Given the description of an element on the screen output the (x, y) to click on. 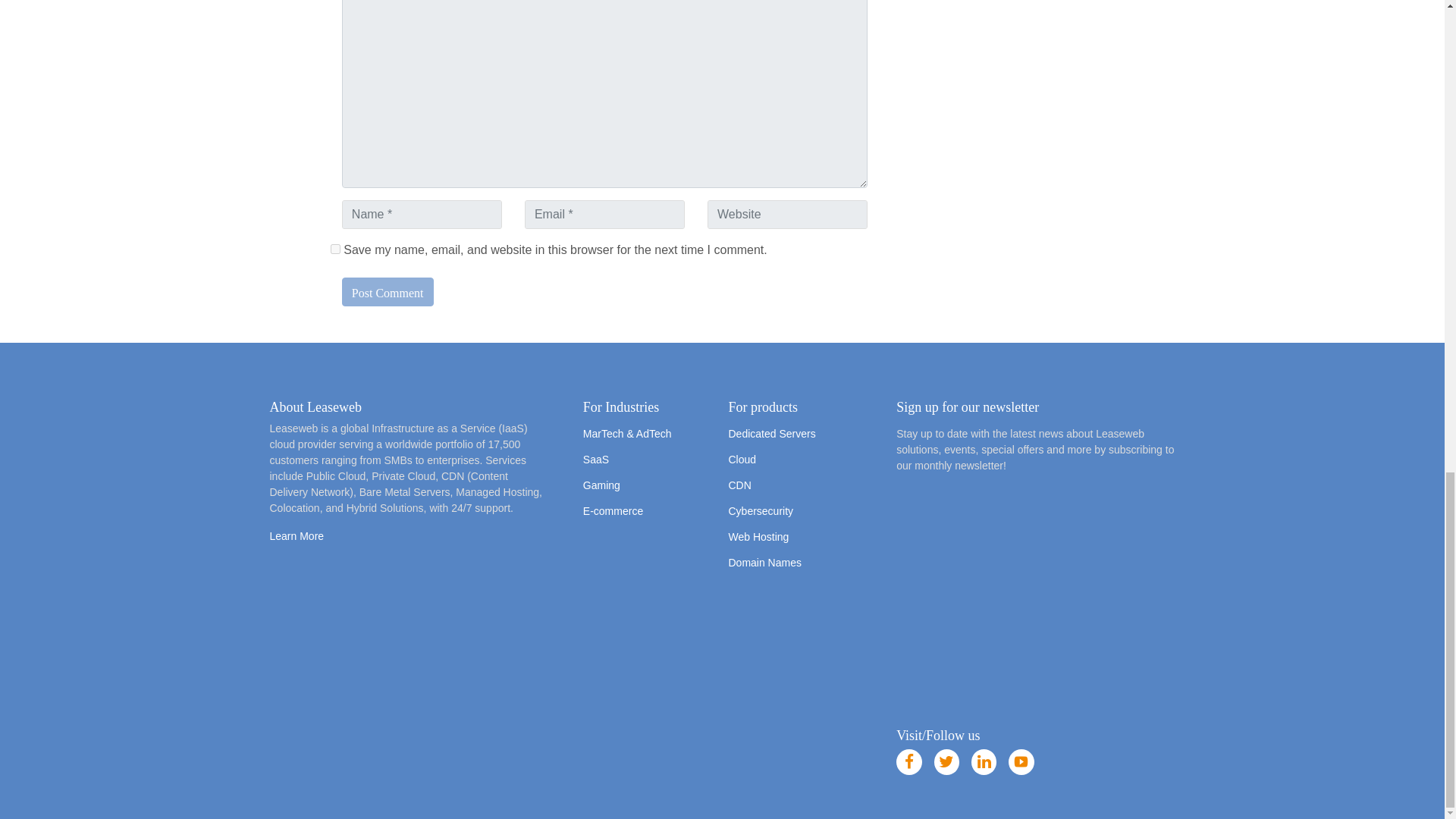
LinkedIn (984, 761)
Post Comment (387, 291)
YouTube (1021, 761)
yes (335, 248)
Twitter (946, 761)
Facebook (908, 761)
Form 0 (1035, 601)
